Given the description of an element on the screen output the (x, y) to click on. 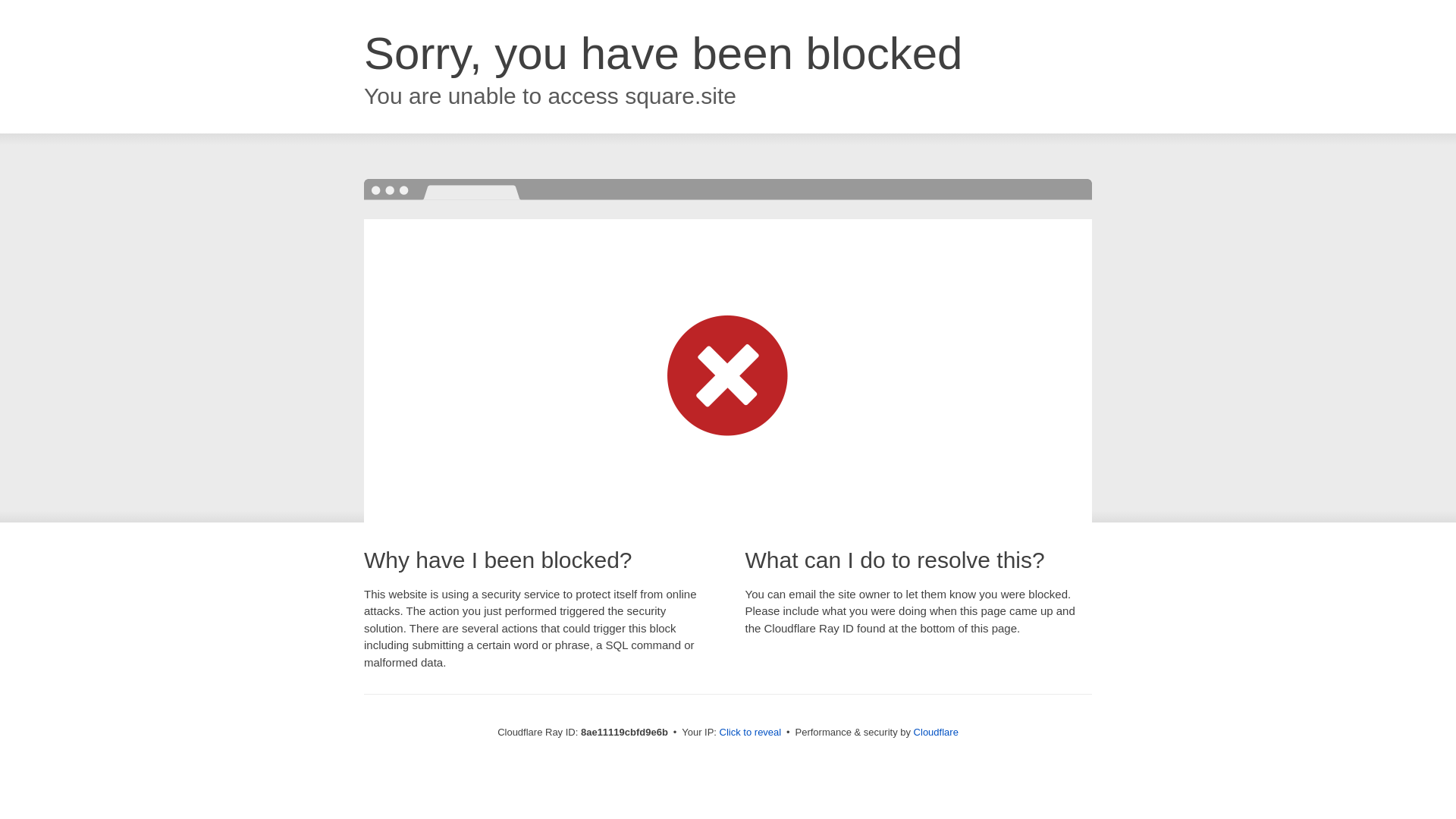
Click to reveal (750, 732)
Cloudflare (936, 731)
